Given the description of an element on the screen output the (x, y) to click on. 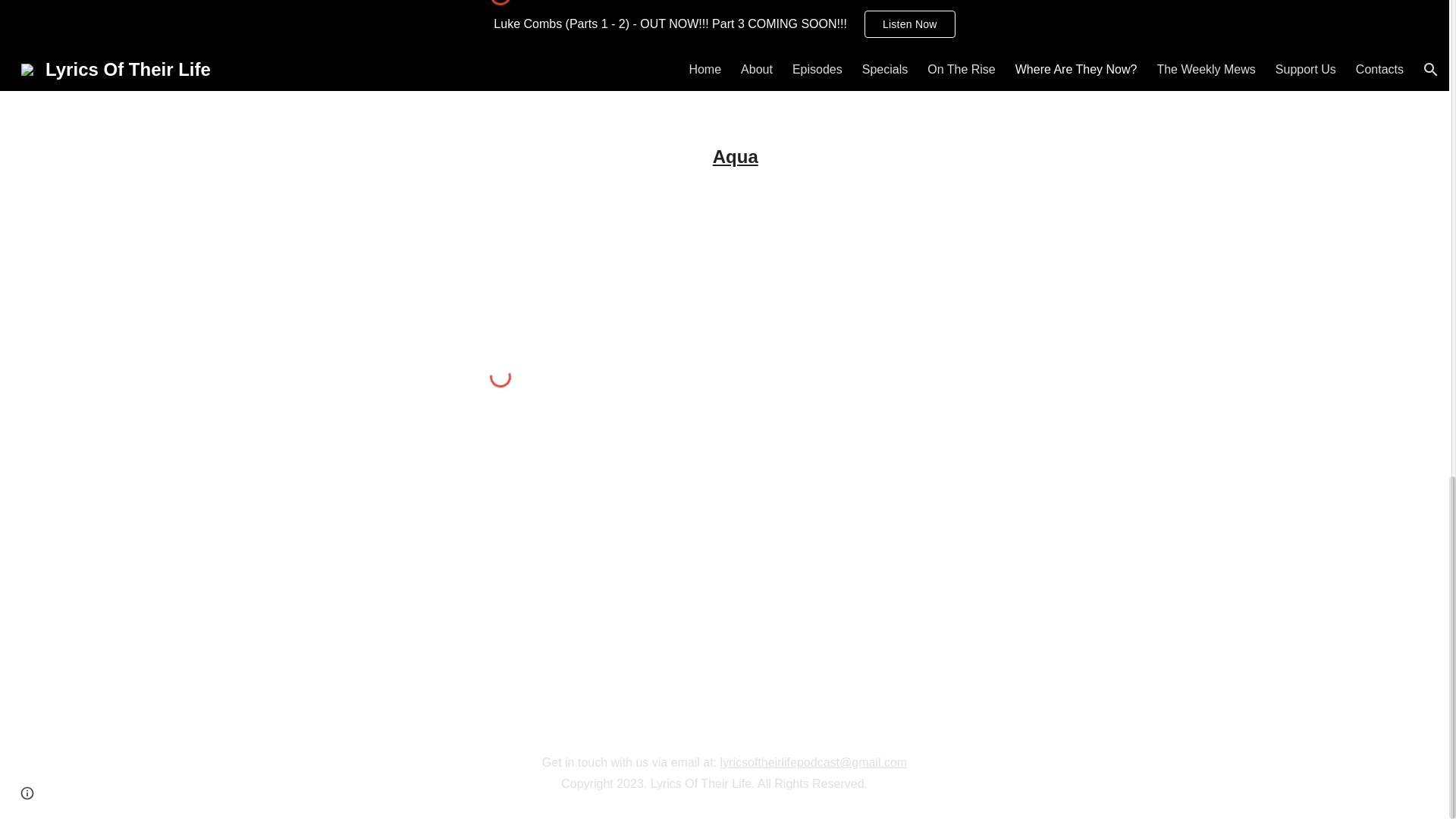
Custom embed (499, 47)
